Given the description of an element on the screen output the (x, y) to click on. 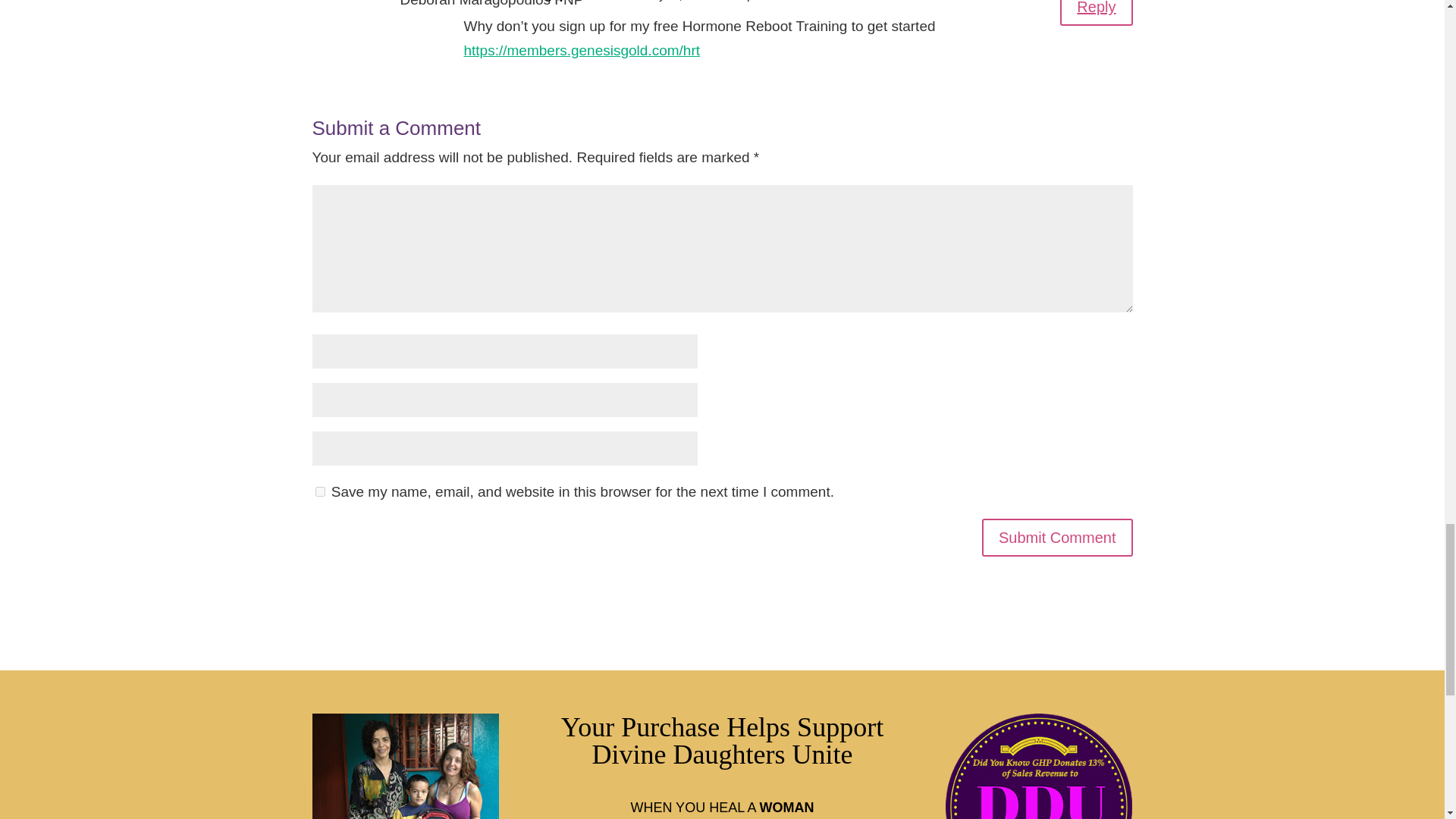
divine-daughters-unite-charity-support-seal (1038, 766)
yes (319, 491)
